Given the description of an element on the screen output the (x, y) to click on. 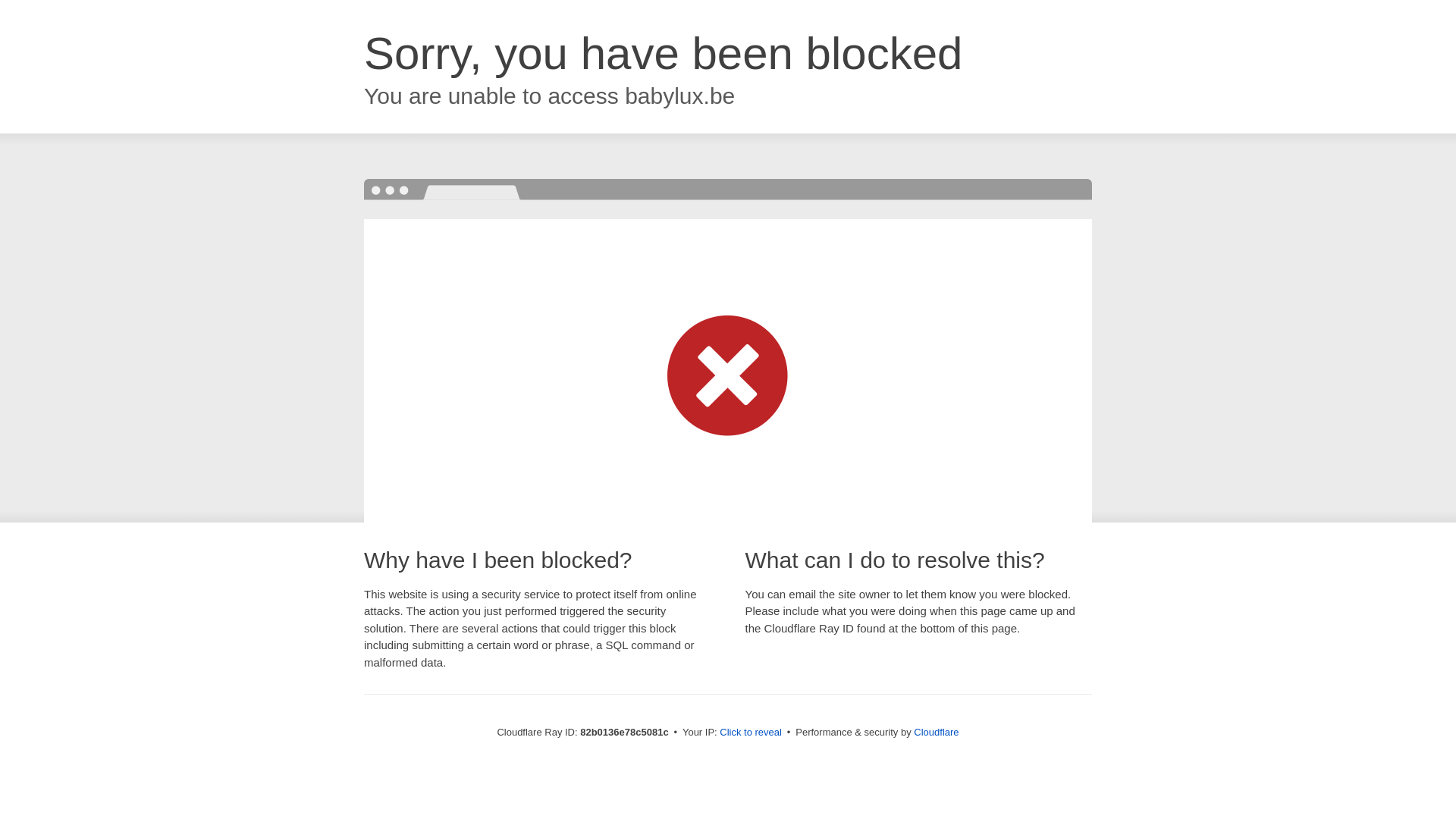
Click to reveal Element type: text (750, 732)
Cloudflare Element type: text (935, 731)
